Given the description of an element on the screen output the (x, y) to click on. 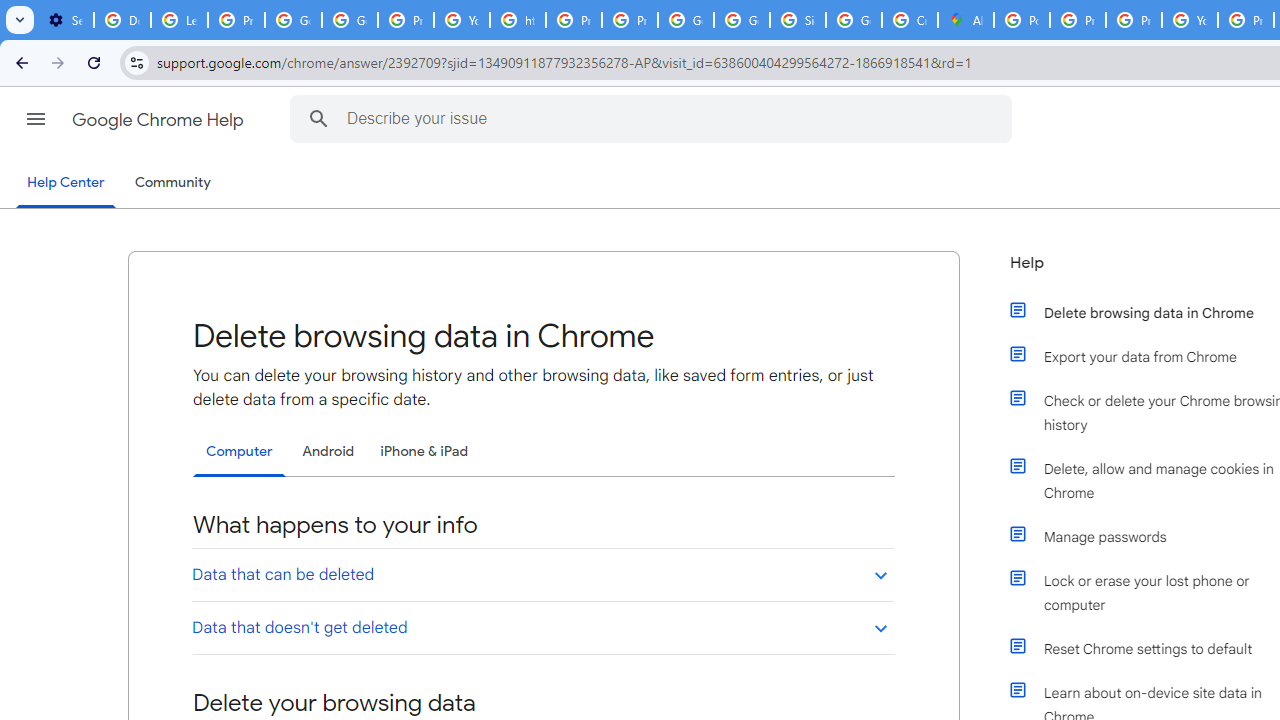
Privacy Help Center - Policies Help (1077, 20)
Privacy Help Center - Policies Help (1133, 20)
Describe your issue (653, 118)
Sign in - Google Accounts (797, 20)
Policy Accountability and Transparency - Transparency Center (1021, 20)
Android (328, 451)
Computer (239, 451)
YouTube (1190, 20)
